Given the description of an element on the screen output the (x, y) to click on. 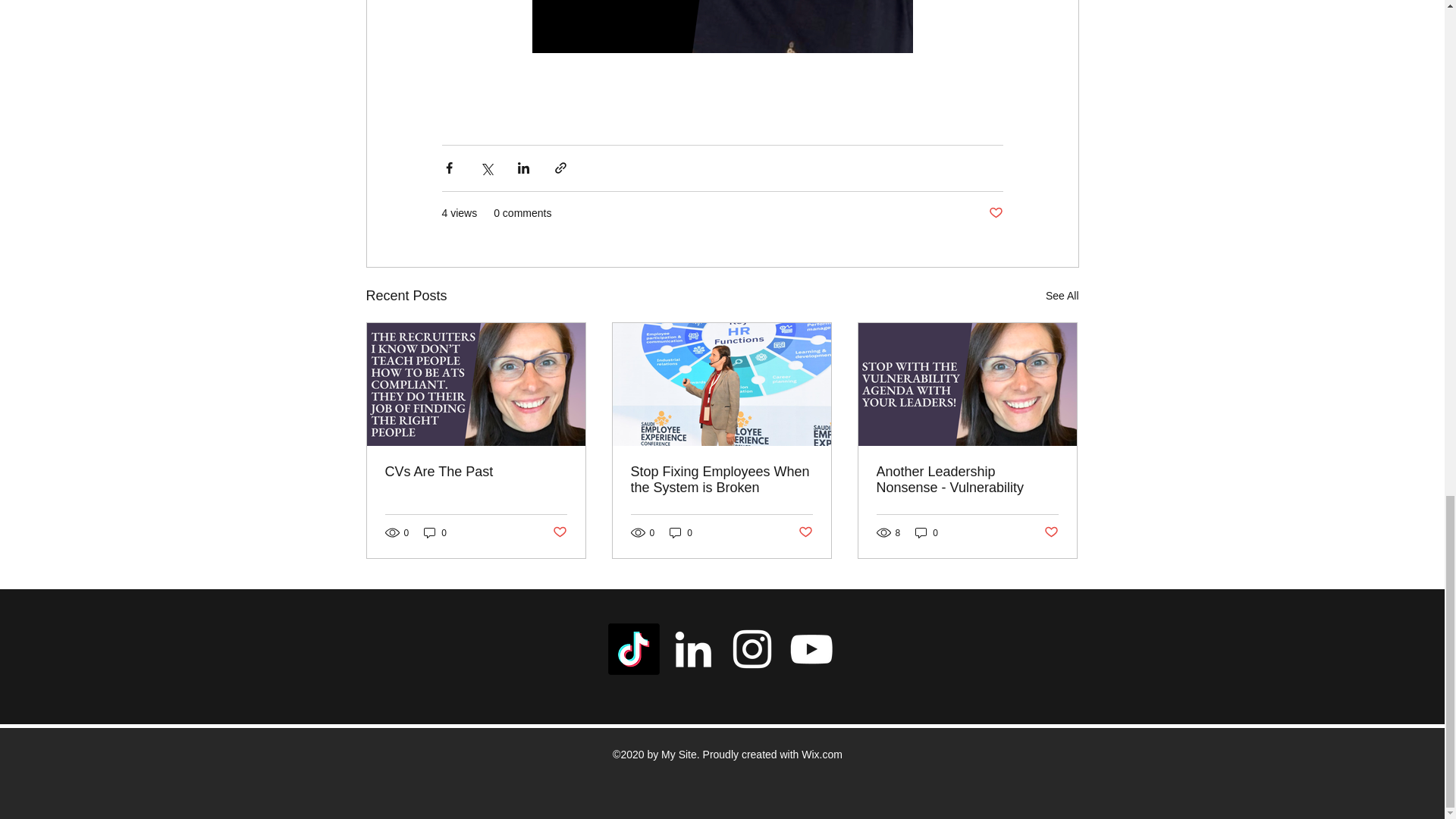
See All (1061, 296)
CVs Are The Past (476, 471)
Post not marked as liked (558, 532)
0 (435, 532)
Post not marked as liked (995, 212)
